Given the description of an element on the screen output the (x, y) to click on. 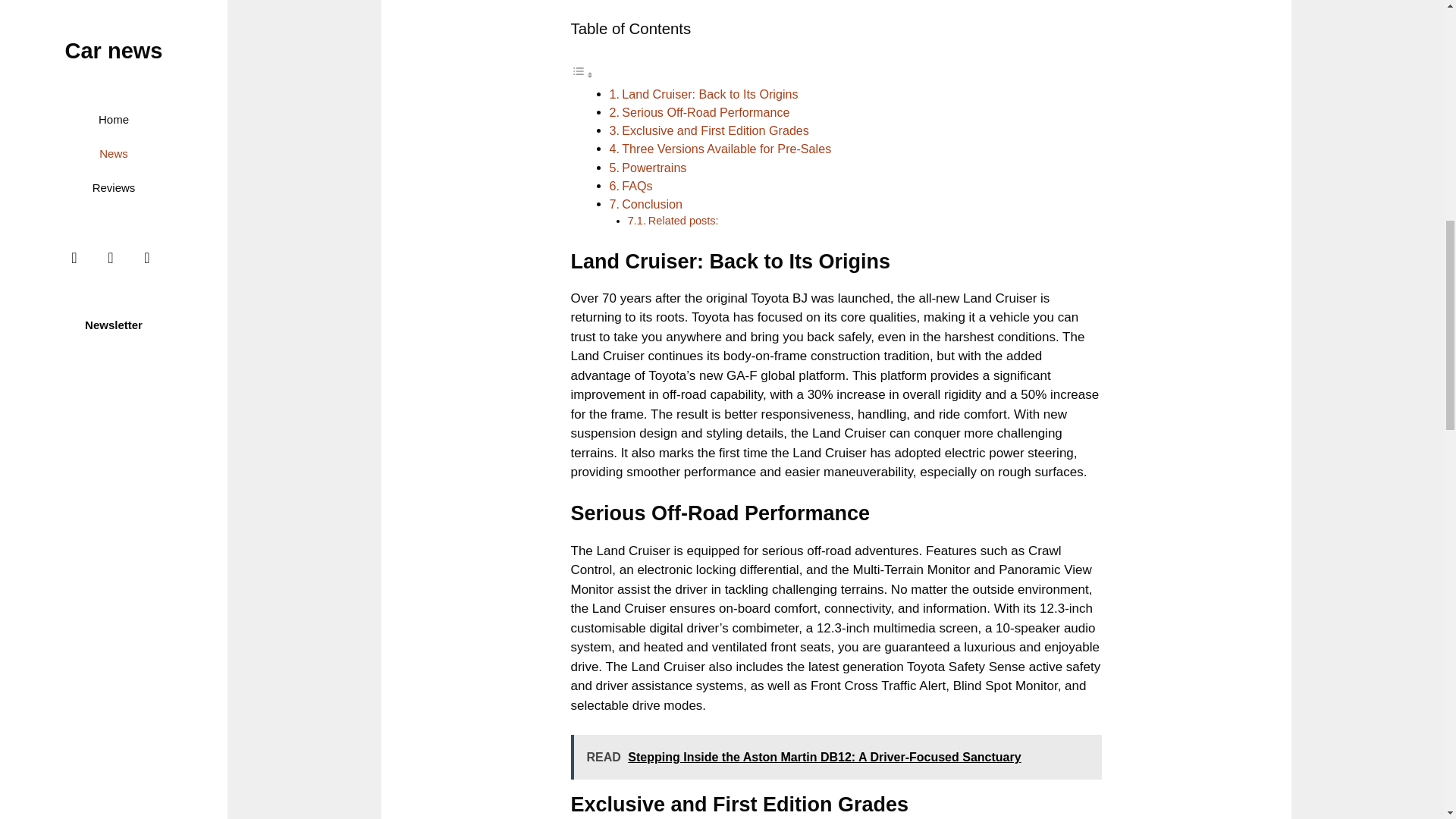
Land Cruiser: Back to Its Origins (709, 93)
Serious Off-Road Performance (705, 111)
FAQs (636, 185)
Land Cruiser: Back to Its Origins (709, 93)
Exclusive and First Edition Grades (715, 130)
Powertrains (653, 167)
Conclusion (651, 203)
Exclusive and First Edition Grades (715, 130)
Related posts: (683, 220)
FAQs (636, 185)
Powertrains (653, 167)
Conclusion (651, 203)
Three Versions Available for Pre-Sales (726, 148)
Three Versions Available for Pre-Sales (726, 148)
